Given the description of an element on the screen output the (x, y) to click on. 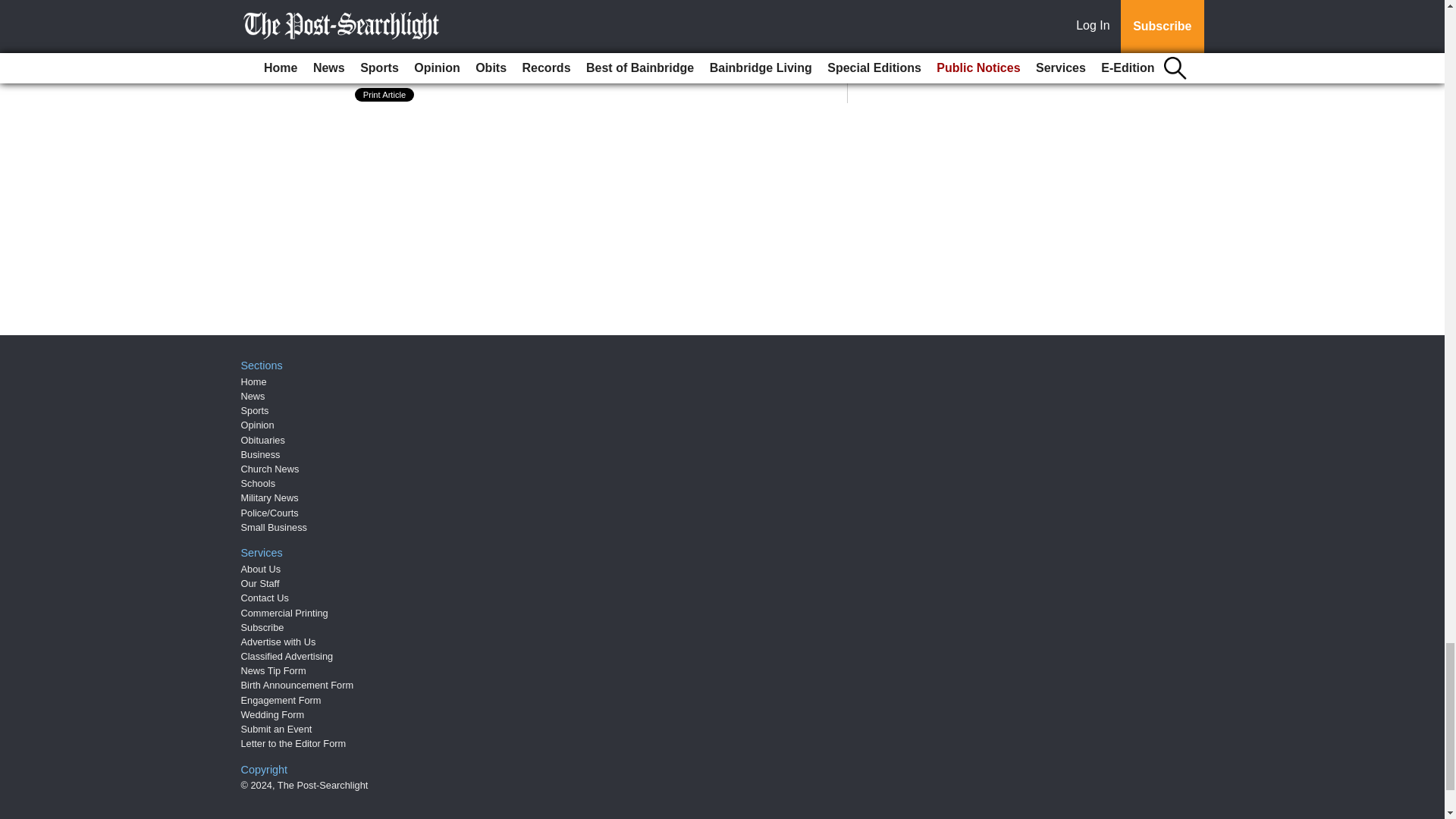
The importance of Rx burning and its uses for us today (563, 45)
